Given the description of an element on the screen output the (x, y) to click on. 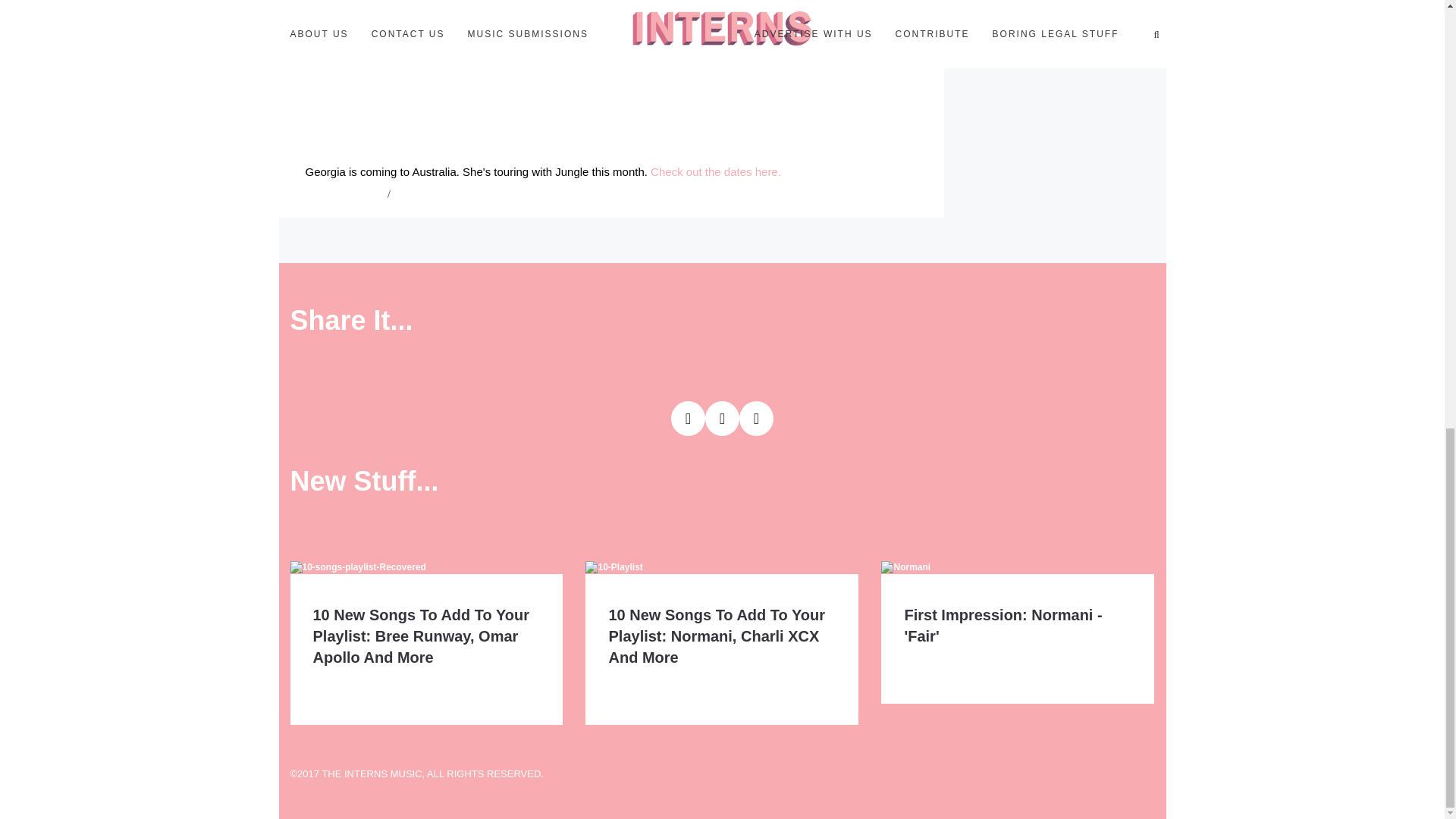
albums, songs, eps (344, 194)
Check out the dates here. (715, 171)
new music (415, 194)
First Impression: Normani - 'Fair' (1003, 625)
